Given the description of an element on the screen output the (x, y) to click on. 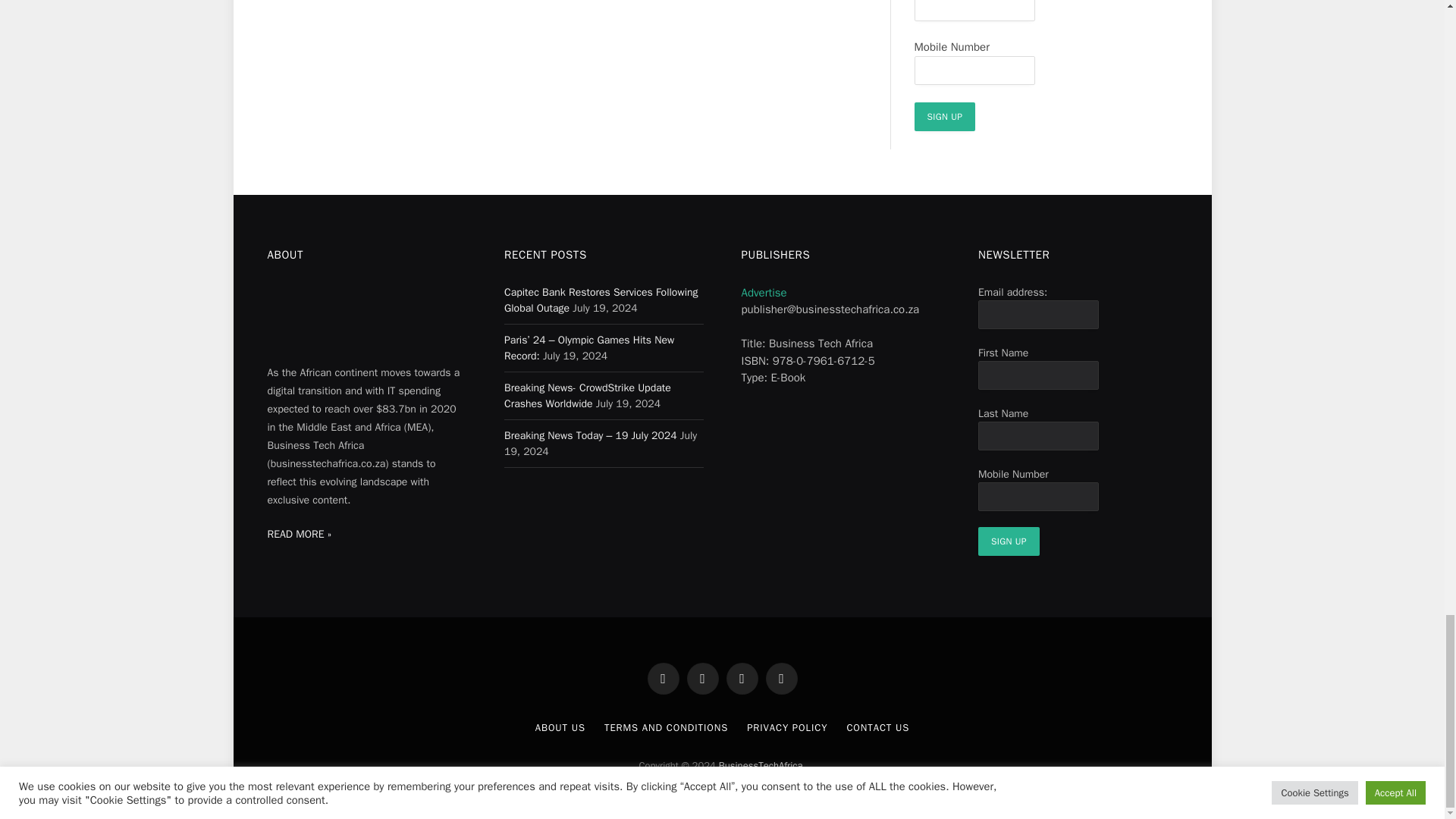
Sign up (944, 116)
Sign up (1008, 541)
